Given the description of an element on the screen output the (x, y) to click on. 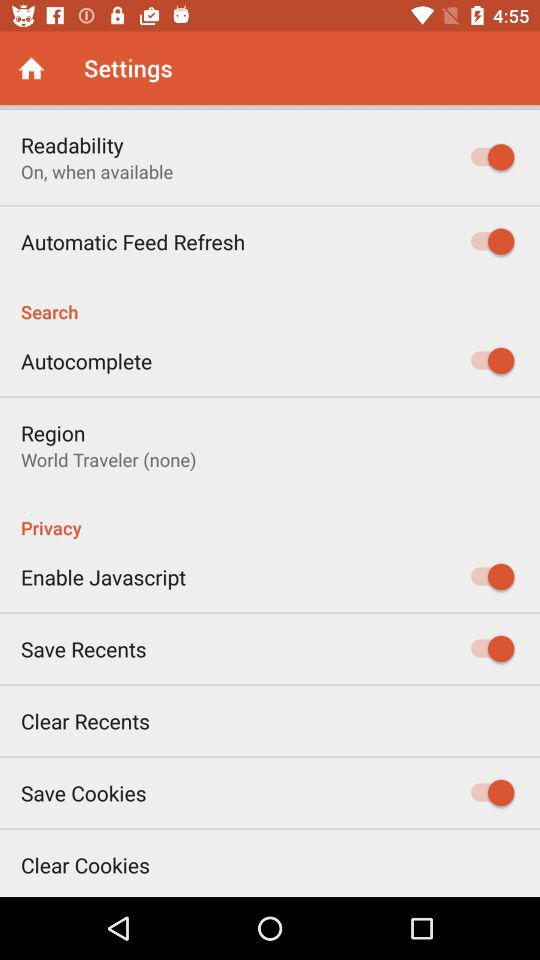
back to home screen (31, 68)
